Given the description of an element on the screen output the (x, y) to click on. 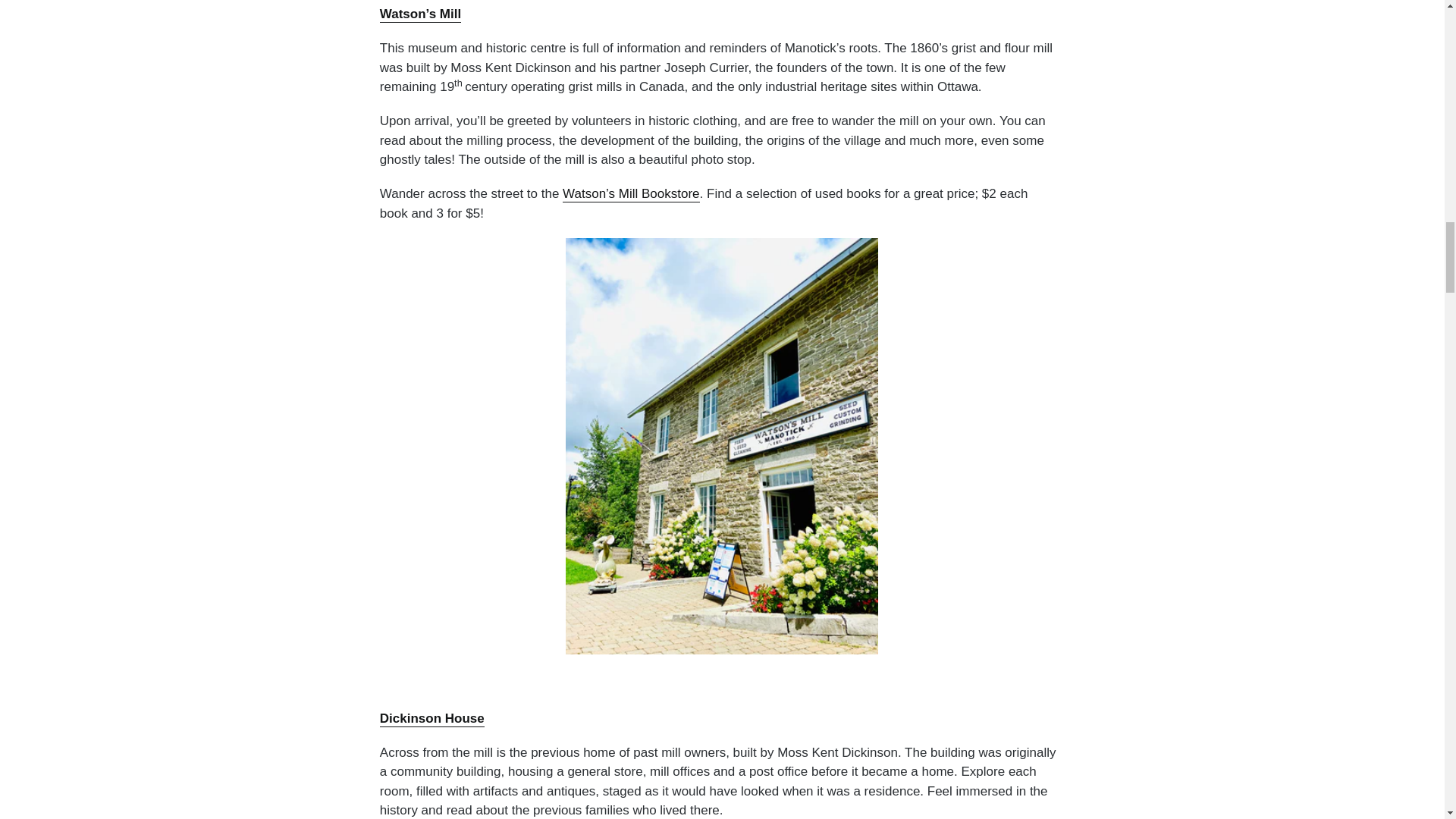
Dickinson House (432, 719)
Watson's Mill Book store Ottawa (630, 194)
